Given the description of an element on the screen output the (x, y) to click on. 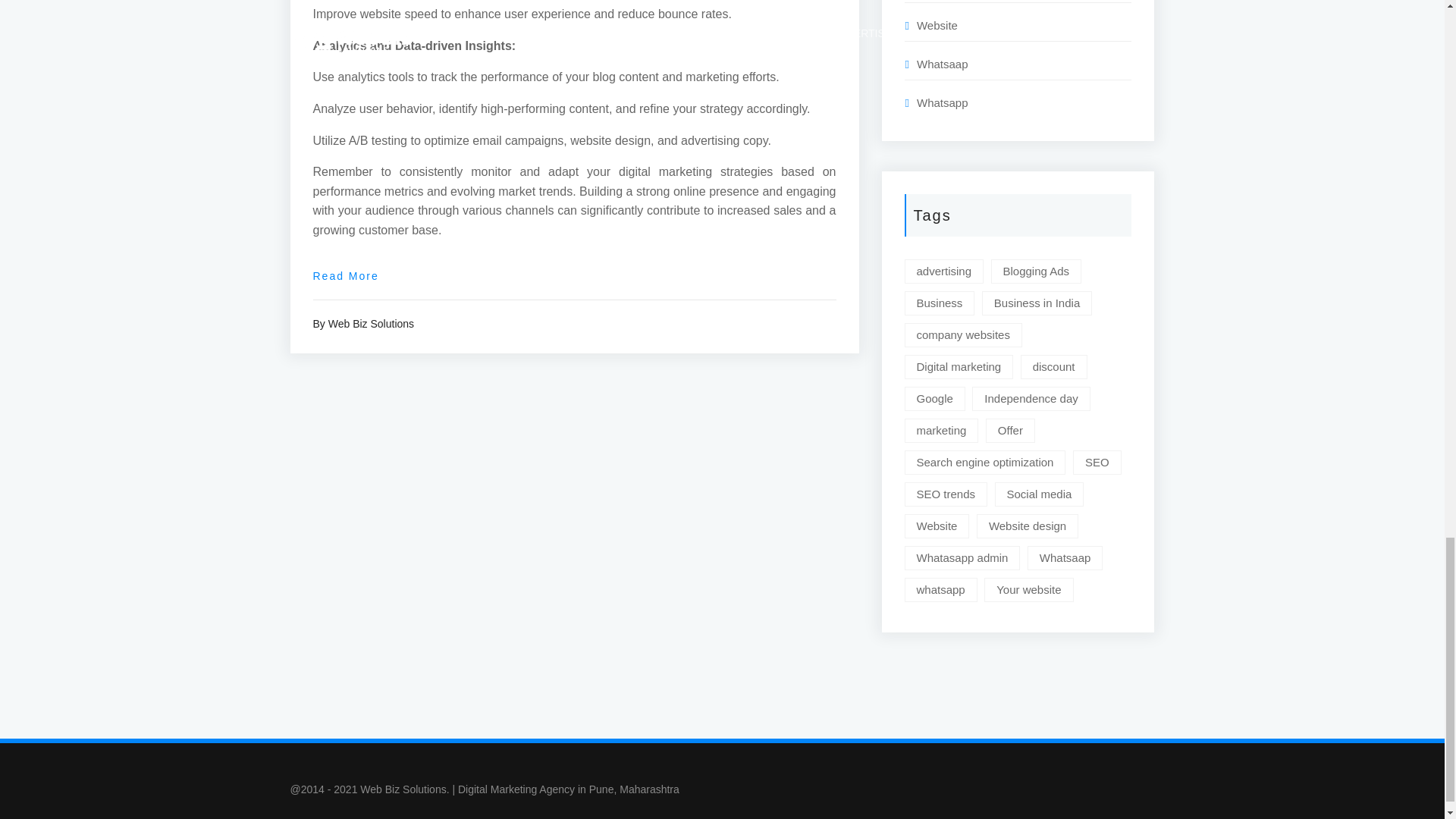
Web Biz Solutions (371, 323)
Read More (345, 275)
